Given the description of an element on the screen output the (x, y) to click on. 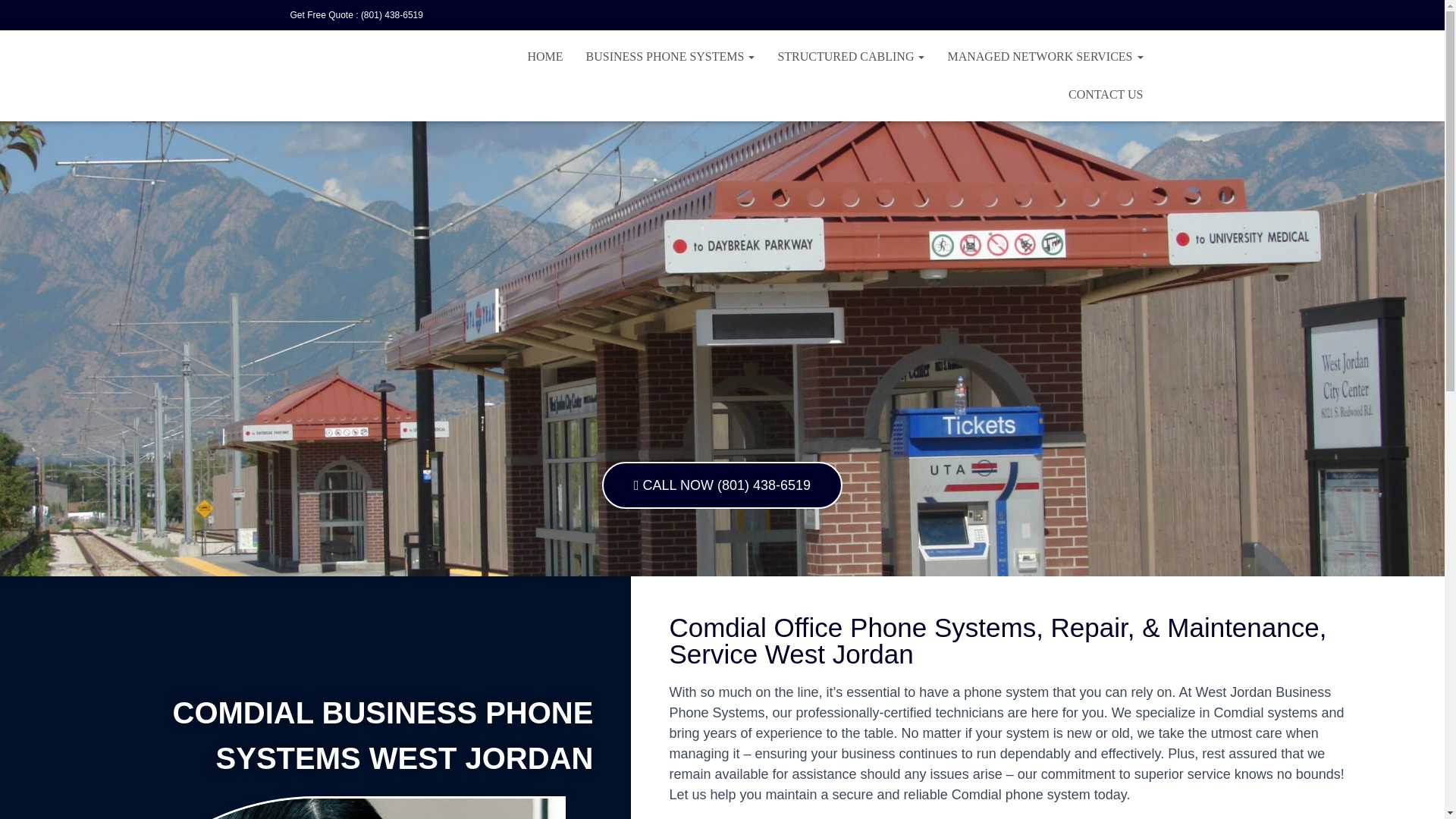
BUSINESS PHONE SYSTEMS (671, 56)
CONTACT US (1105, 94)
HOME (544, 56)
MANAGED NETWORK SERVICES (1045, 56)
STRUCTURED CABLING (850, 56)
Home (544, 56)
BUSINESS PHONE SYSTEMS (671, 56)
